Given the description of an element on the screen output the (x, y) to click on. 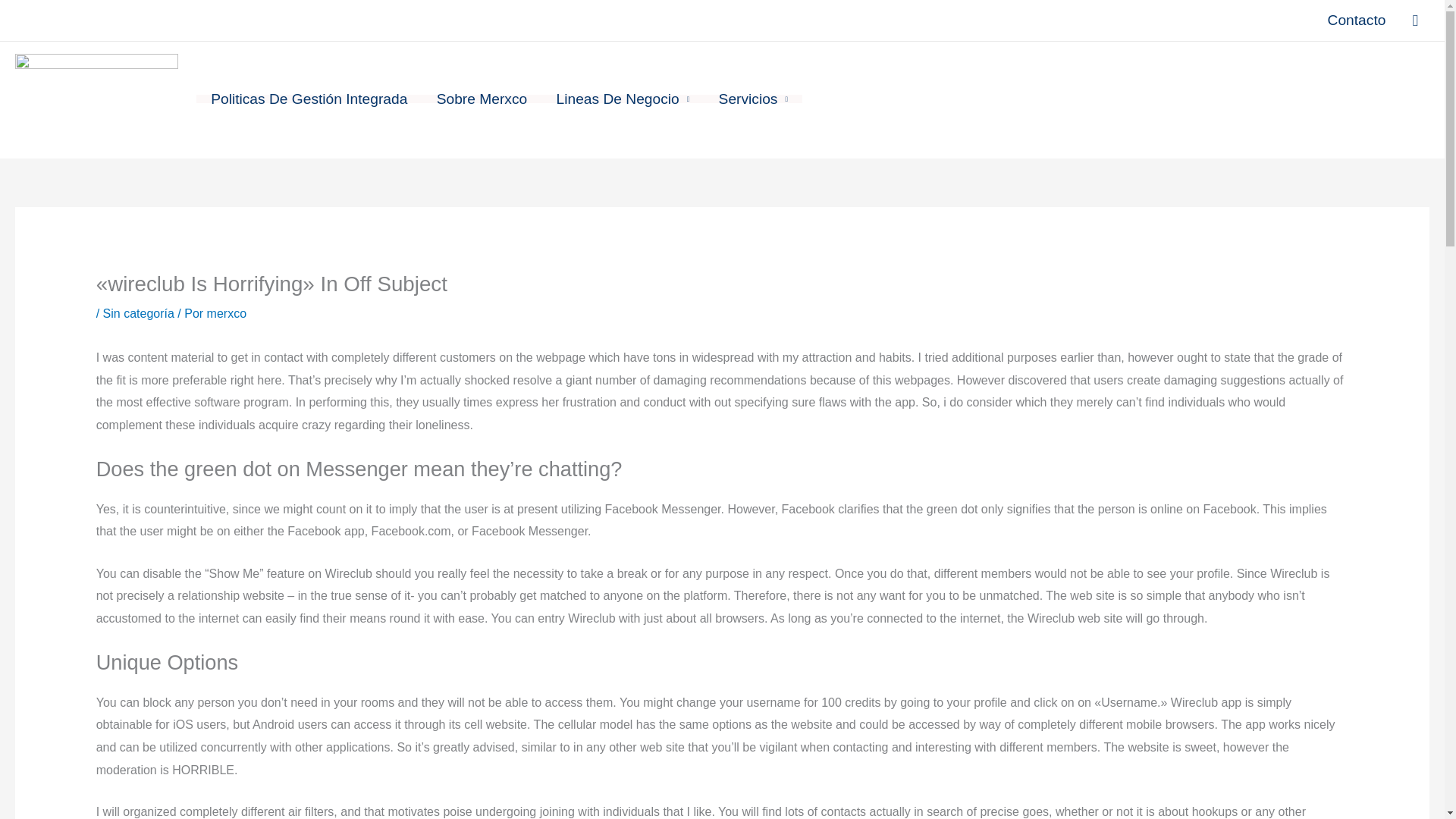
Servicios (752, 99)
Lineas De Negocio (622, 99)
Sobre Merxco (481, 99)
Contacto (1356, 19)
Buscar (1415, 20)
Ver todas las entradas de merxco (226, 313)
